Given the description of an element on the screen output the (x, y) to click on. 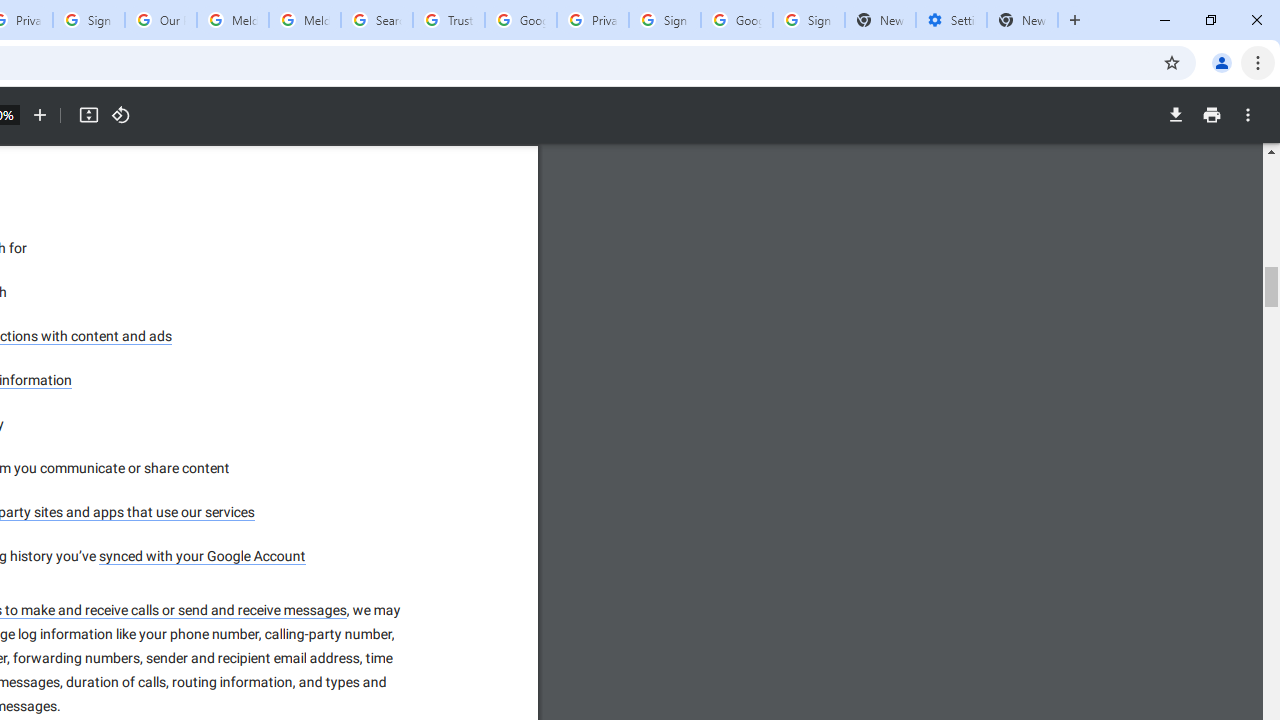
Trusted Information and Content - Google Safety Center (449, 20)
Sign in - Google Accounts (664, 20)
You (1221, 62)
New Tab (1075, 20)
Bookmark this tab (1171, 62)
New Tab (1022, 20)
Chrome (1260, 62)
Restore (1210, 20)
Sign in - Google Accounts (88, 20)
Settings - Addresses and more (951, 20)
Fit to page (87, 115)
